Given the description of an element on the screen output the (x, y) to click on. 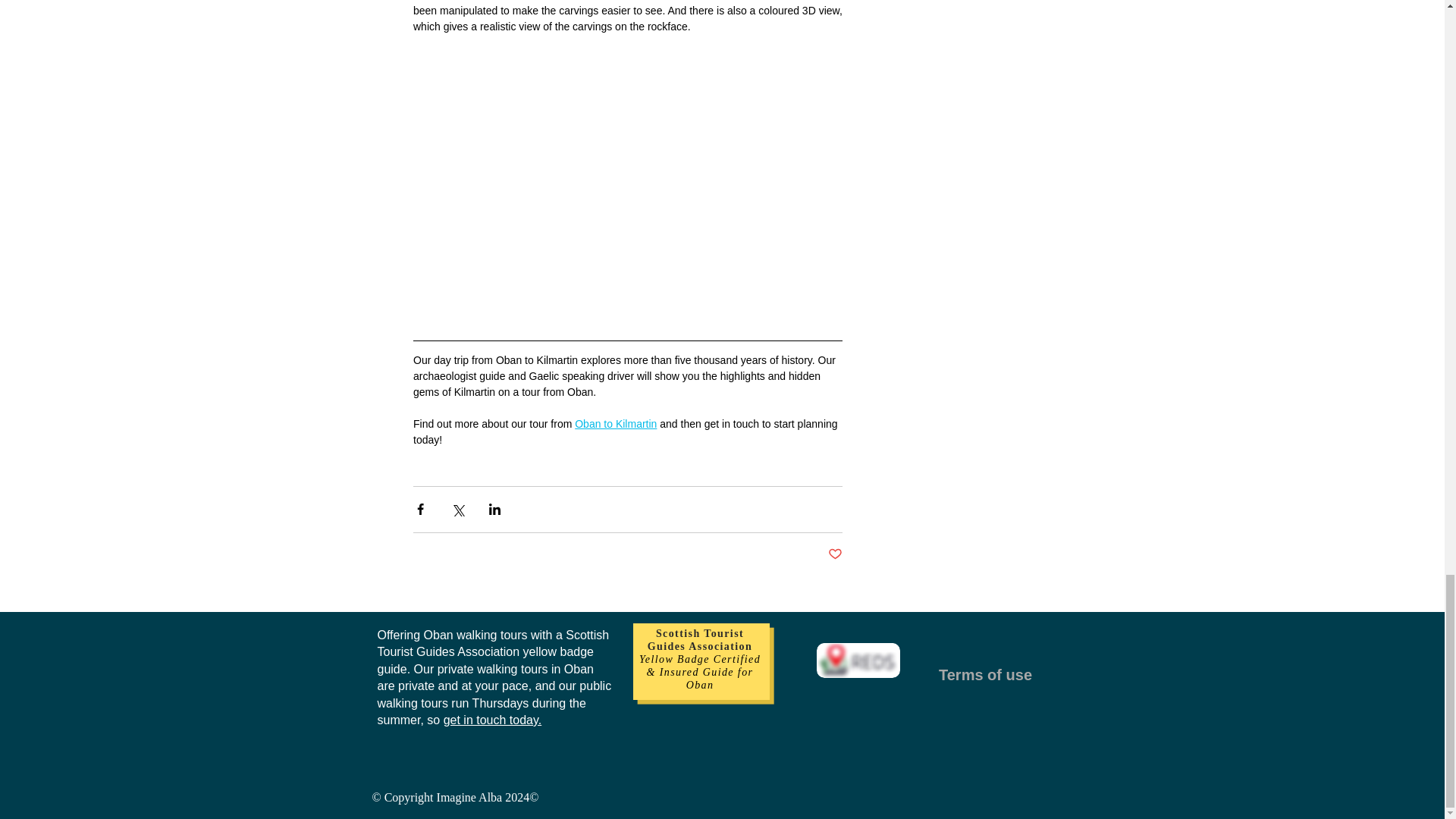
Post not marked as liked (835, 554)
Oban to Kilmartin (615, 423)
